Given the description of an element on the screen output the (x, y) to click on. 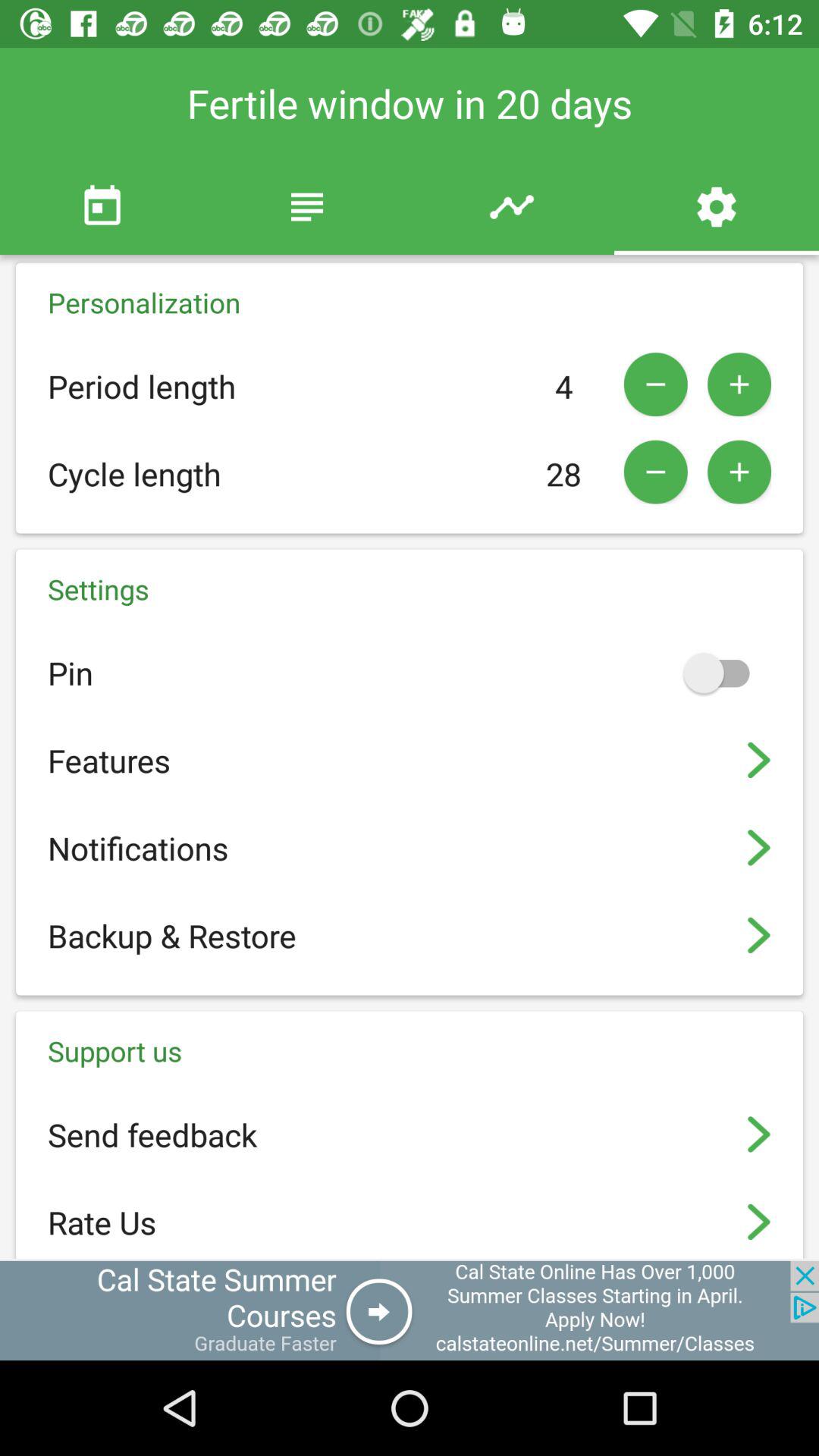
toggle switch for security pin (723, 672)
